Given the description of an element on the screen output the (x, y) to click on. 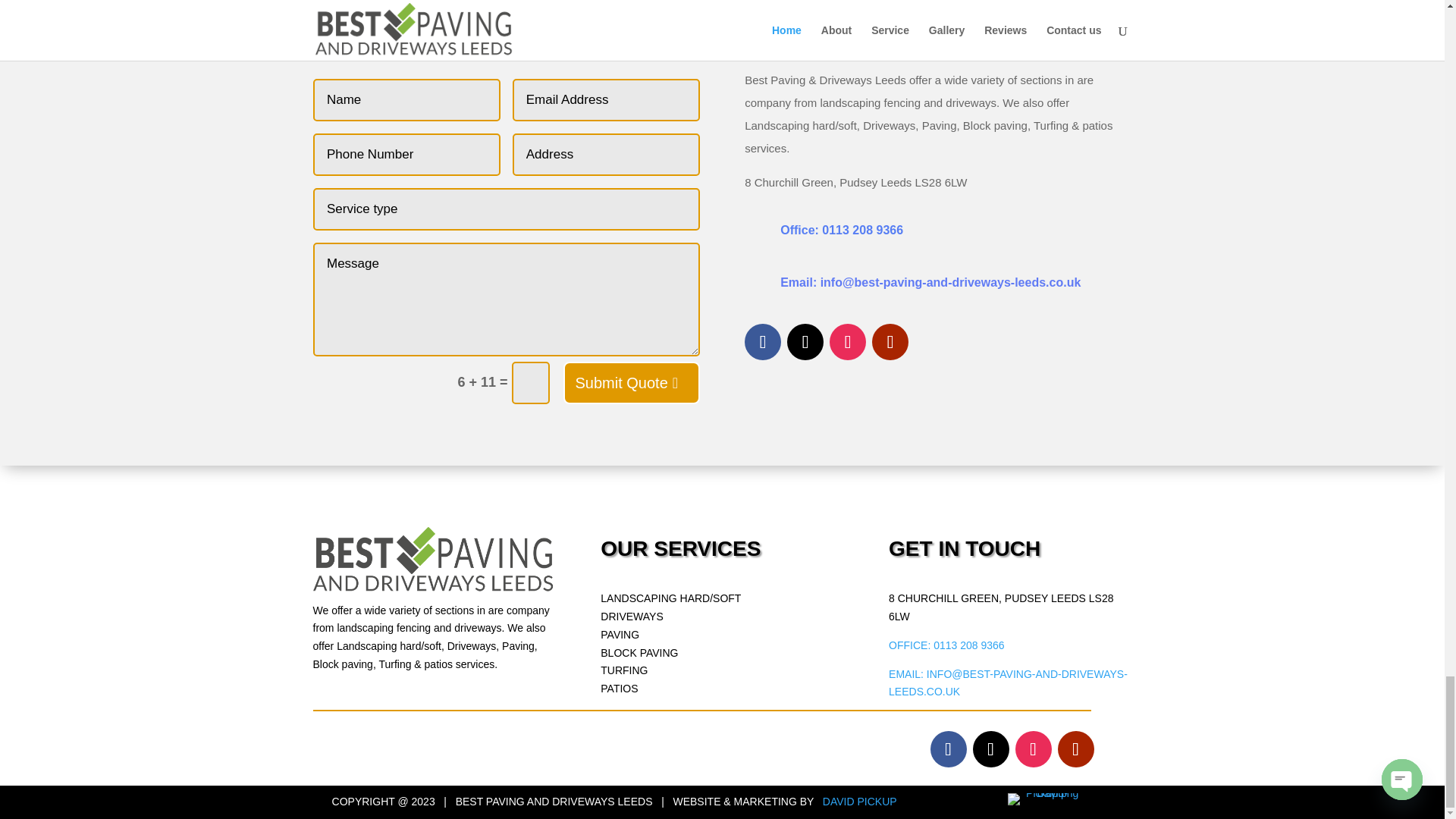
Follow on Facebook (762, 341)
Follow on Instagram (847, 341)
Follow on X (805, 341)
Submit Quote (630, 382)
